Given the description of an element on the screen output the (x, y) to click on. 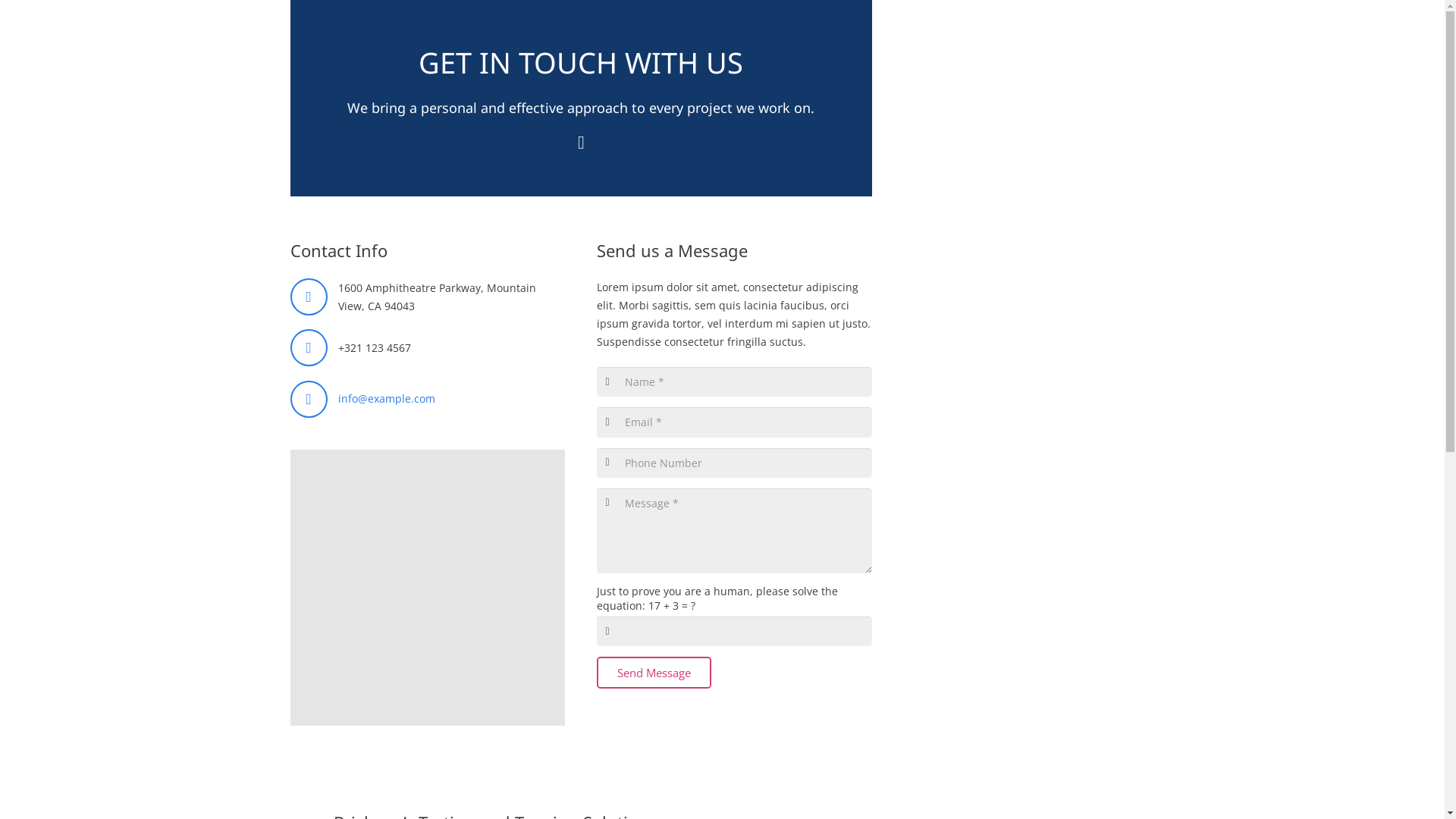
Send Message Element type: text (653, 672)
info@example.com Element type: text (386, 398)
